Given the description of an element on the screen output the (x, y) to click on. 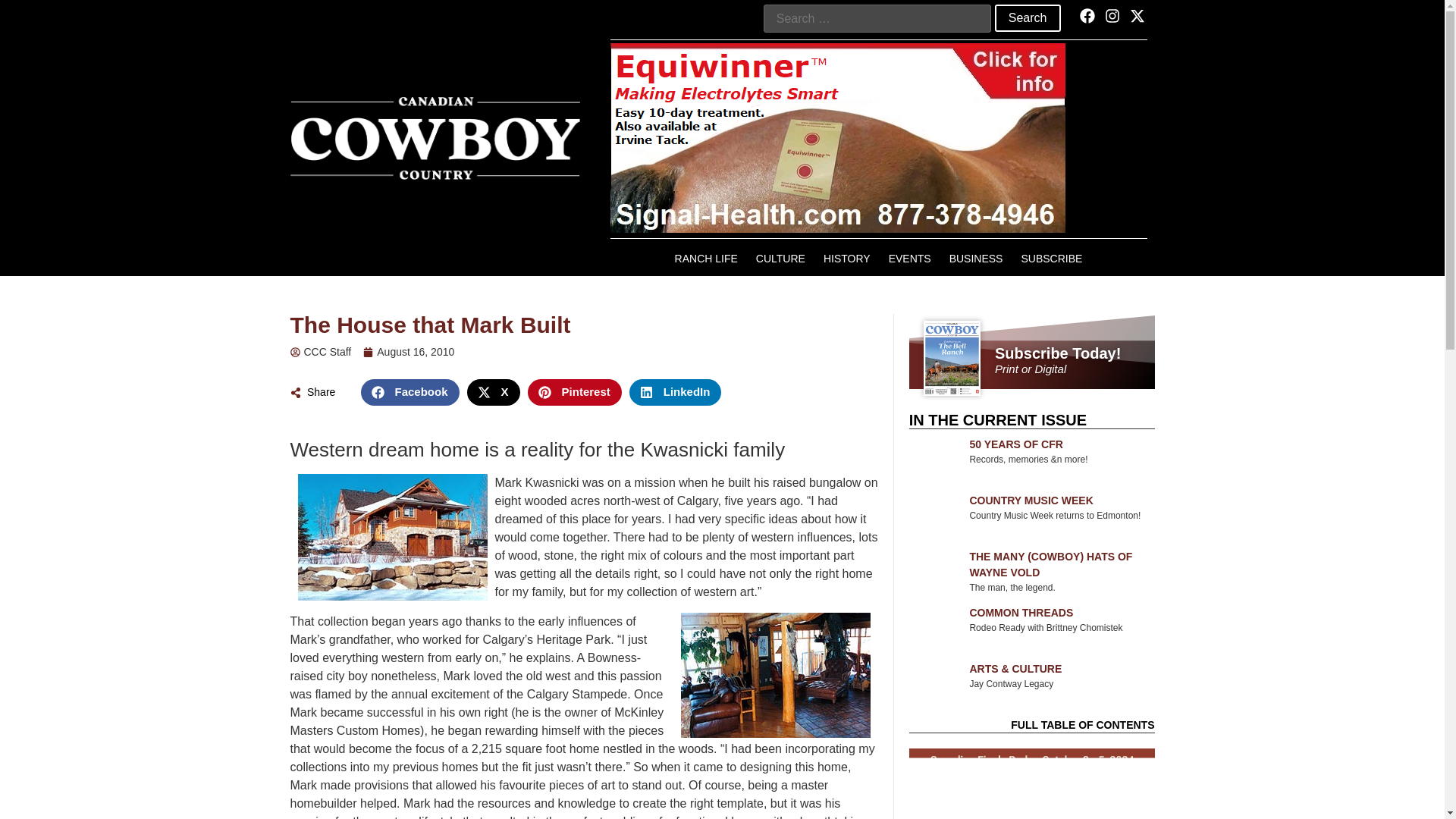
Search (1027, 17)
BUSINESS (975, 258)
SUBSCRIBE (1050, 258)
EVENTS (909, 258)
Search (1027, 17)
Search (1027, 17)
CULTURE (779, 258)
HISTORY (846, 258)
RANCH LIFE (705, 258)
